Given the description of an element on the screen output the (x, y) to click on. 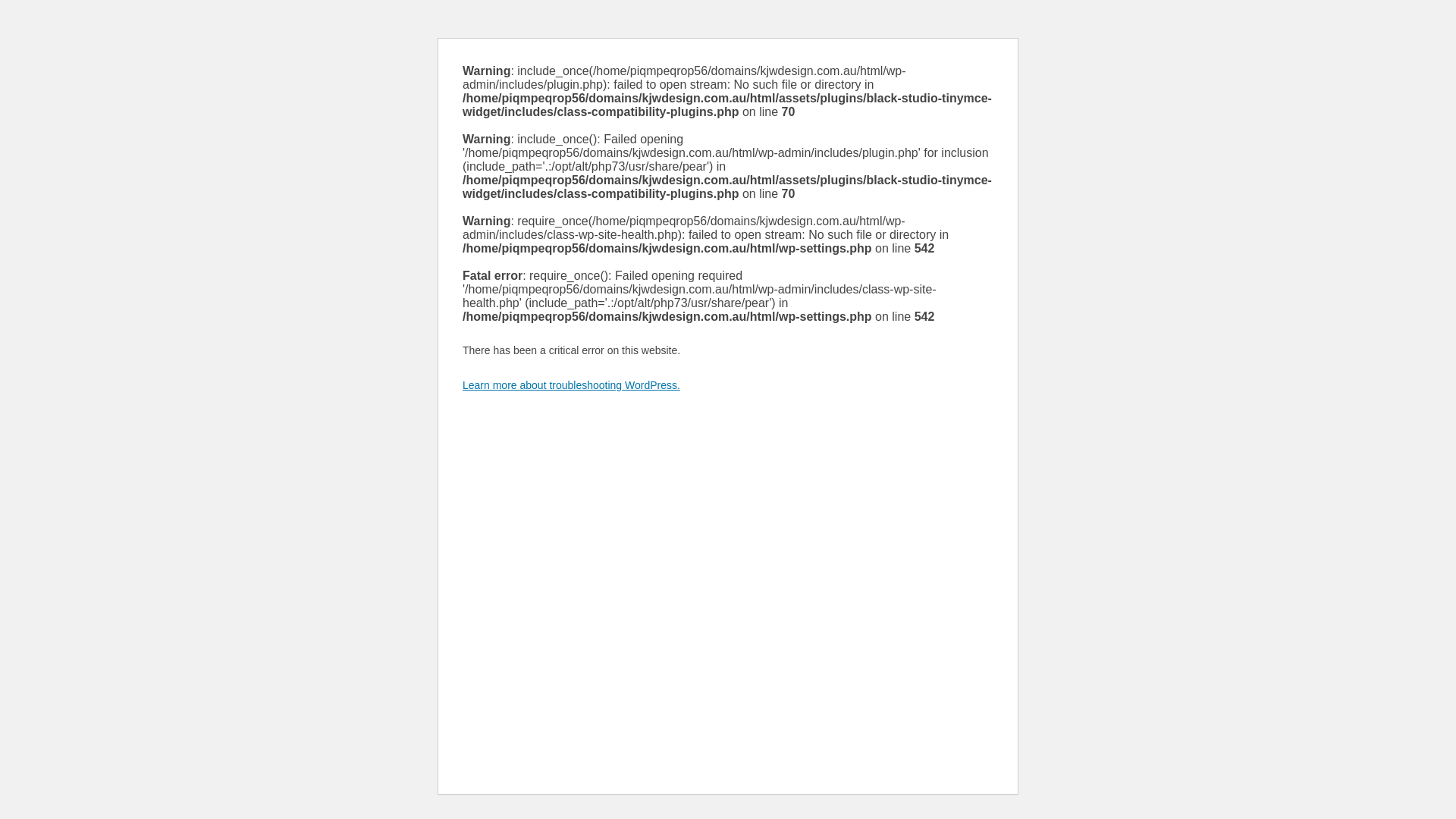
Learn more about troubleshooting WordPress. Element type: text (571, 385)
